Given the description of an element on the screen output the (x, y) to click on. 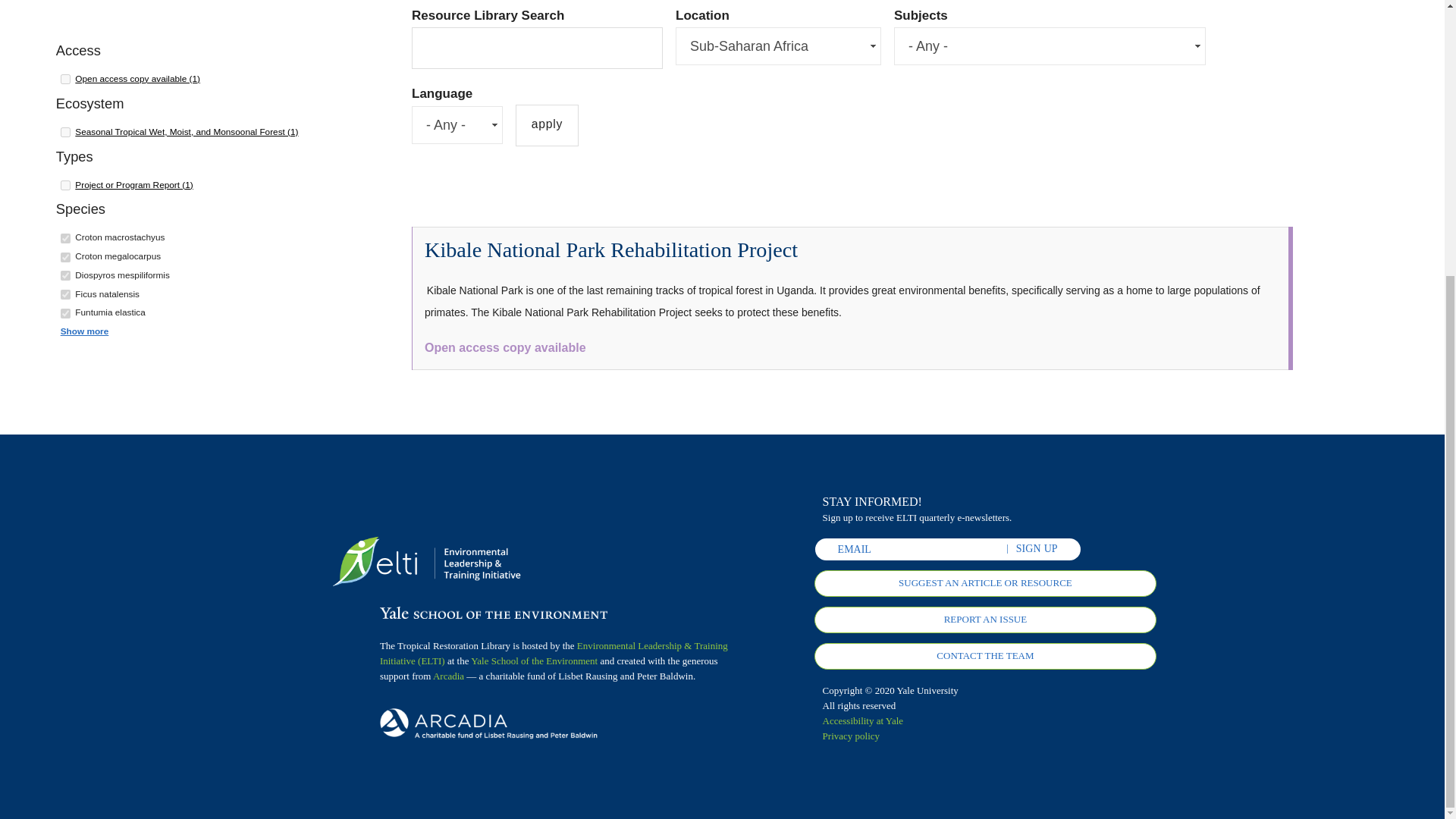
on (65, 275)
on (65, 132)
on (65, 185)
on (65, 256)
on (65, 313)
on (65, 79)
Sign Up (1037, 548)
on (65, 238)
Kibale National Park Rehabilitation Project (611, 249)
Apply (546, 125)
on (65, 294)
Apply (546, 125)
